Given the description of an element on the screen output the (x, y) to click on. 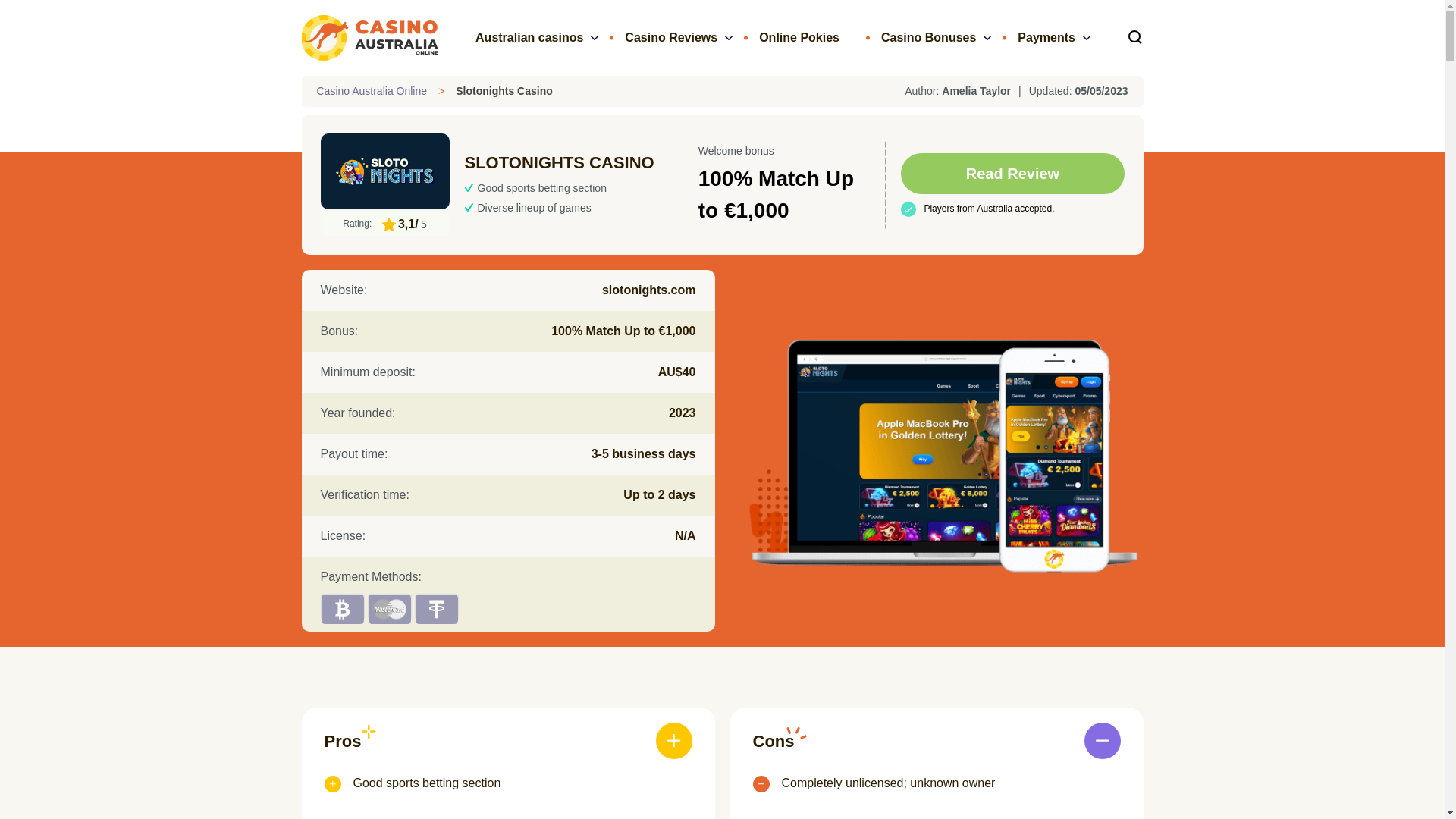
Casino Reviews (670, 37)
Go to Casino Australia Online. (372, 91)
Payments (1046, 37)
Australian casinos (529, 37)
Online Pokies (799, 37)
Casino Bonuses (927, 37)
